Given the description of an element on the screen output the (x, y) to click on. 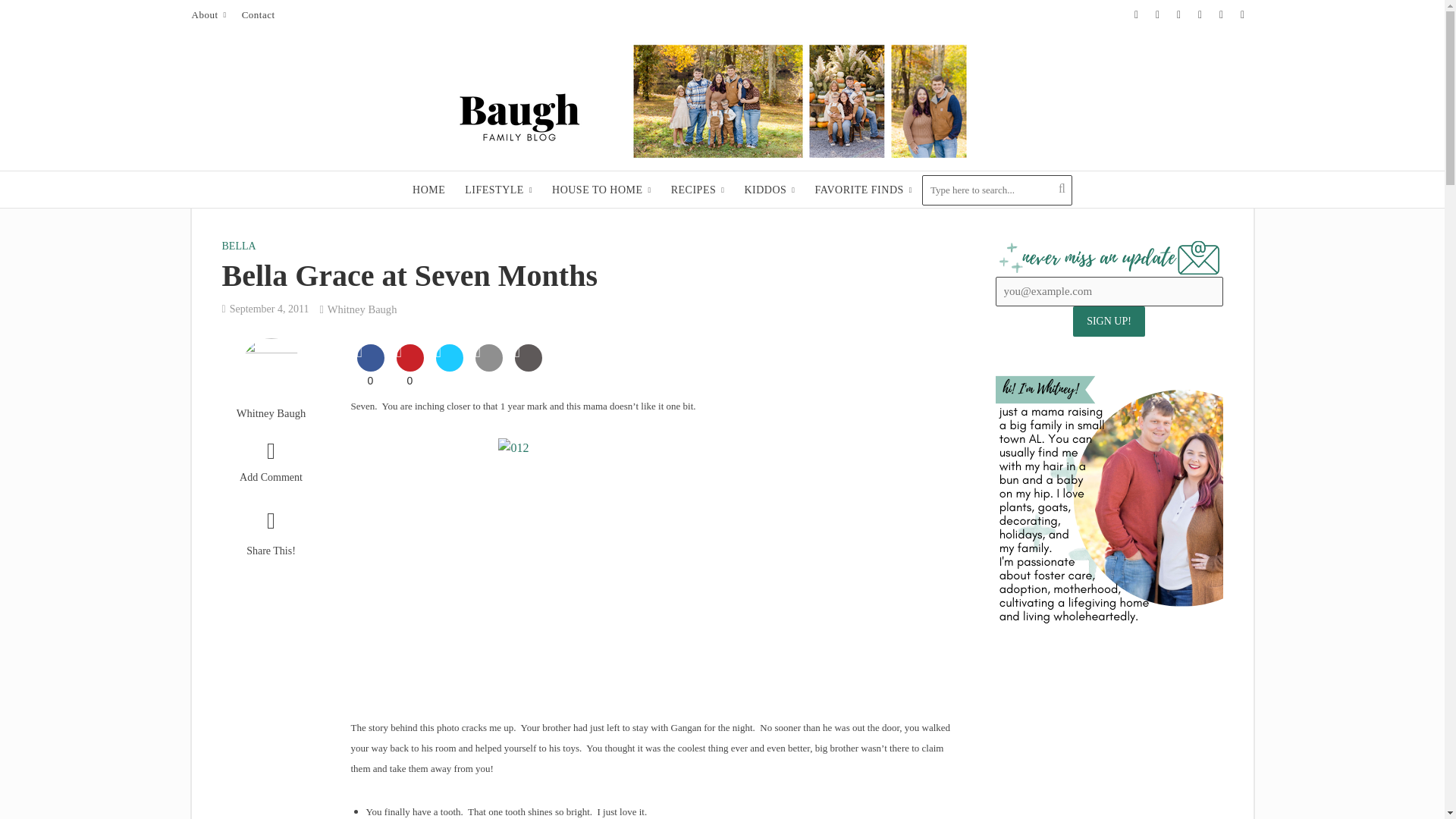
LIFESTYLE (497, 190)
HOUSE TO HOME (601, 190)
RECIPES (698, 190)
012 (656, 566)
HOME (428, 190)
Sign up! (1108, 321)
KIDDOS (769, 190)
FAVORITE FINDS (863, 190)
About (211, 15)
Contact (258, 15)
